Given the description of an element on the screen output the (x, y) to click on. 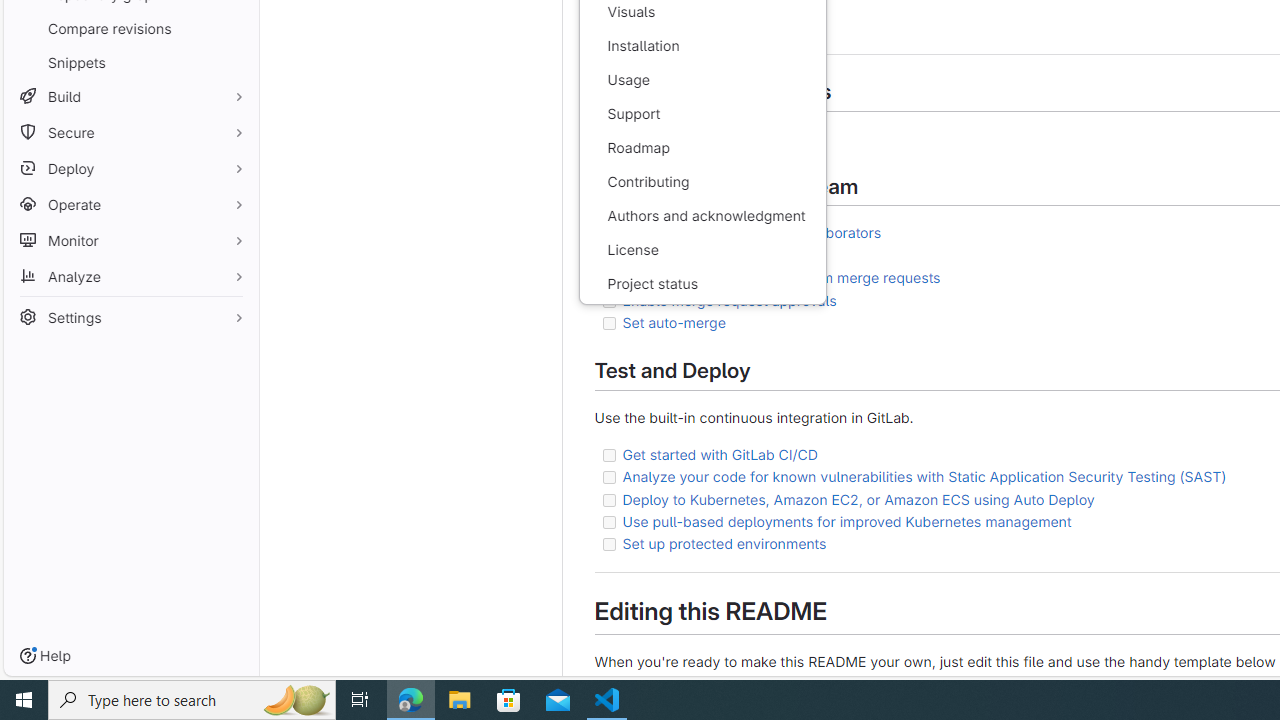
Deploy (130, 168)
Secure (130, 132)
Pin Compare revisions (234, 28)
Usage (701, 79)
Set up project integrations (709, 137)
Monitor (130, 240)
Set up protected environments (724, 543)
Pin Snippets (234, 61)
Secure (130, 132)
Create a new merge request (716, 255)
Support (701, 113)
Contributing (701, 182)
Automatically close issues from merge requests (781, 278)
Usage (701, 79)
